Given the description of an element on the screen output the (x, y) to click on. 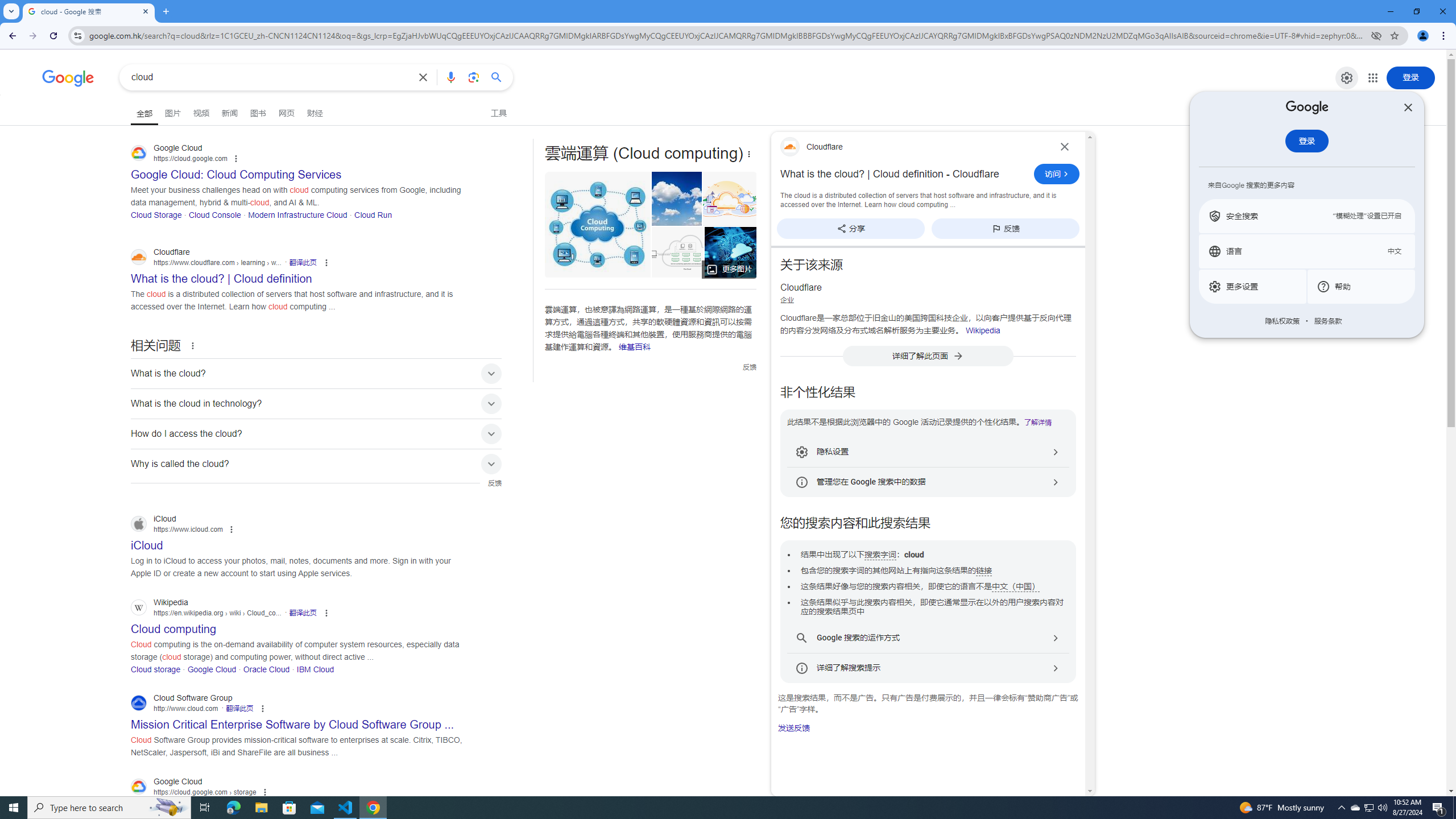
Modern Infrastructure Cloud (297, 214)
Cloudflare (913, 146)
Why is called the cloud? (316, 463)
What is cloud computing? Everything you need to know now ... (742, 251)
